Given the description of an element on the screen output the (x, y) to click on. 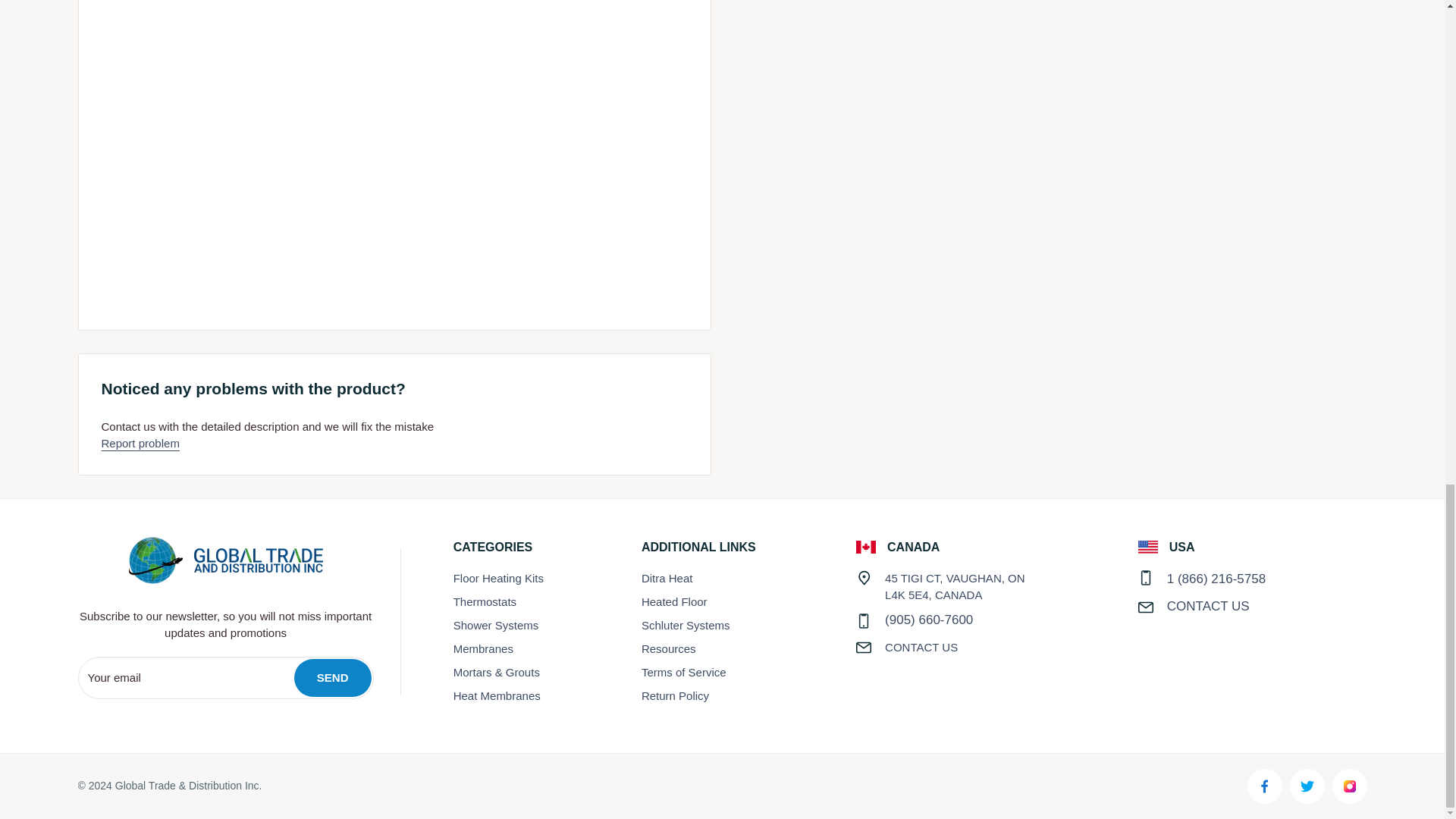
Contact (921, 646)
Product report page (140, 442)
tel:18662165758 (1216, 578)
Contact (1208, 605)
tel:9056607600 (928, 619)
